Given the description of an element on the screen output the (x, y) to click on. 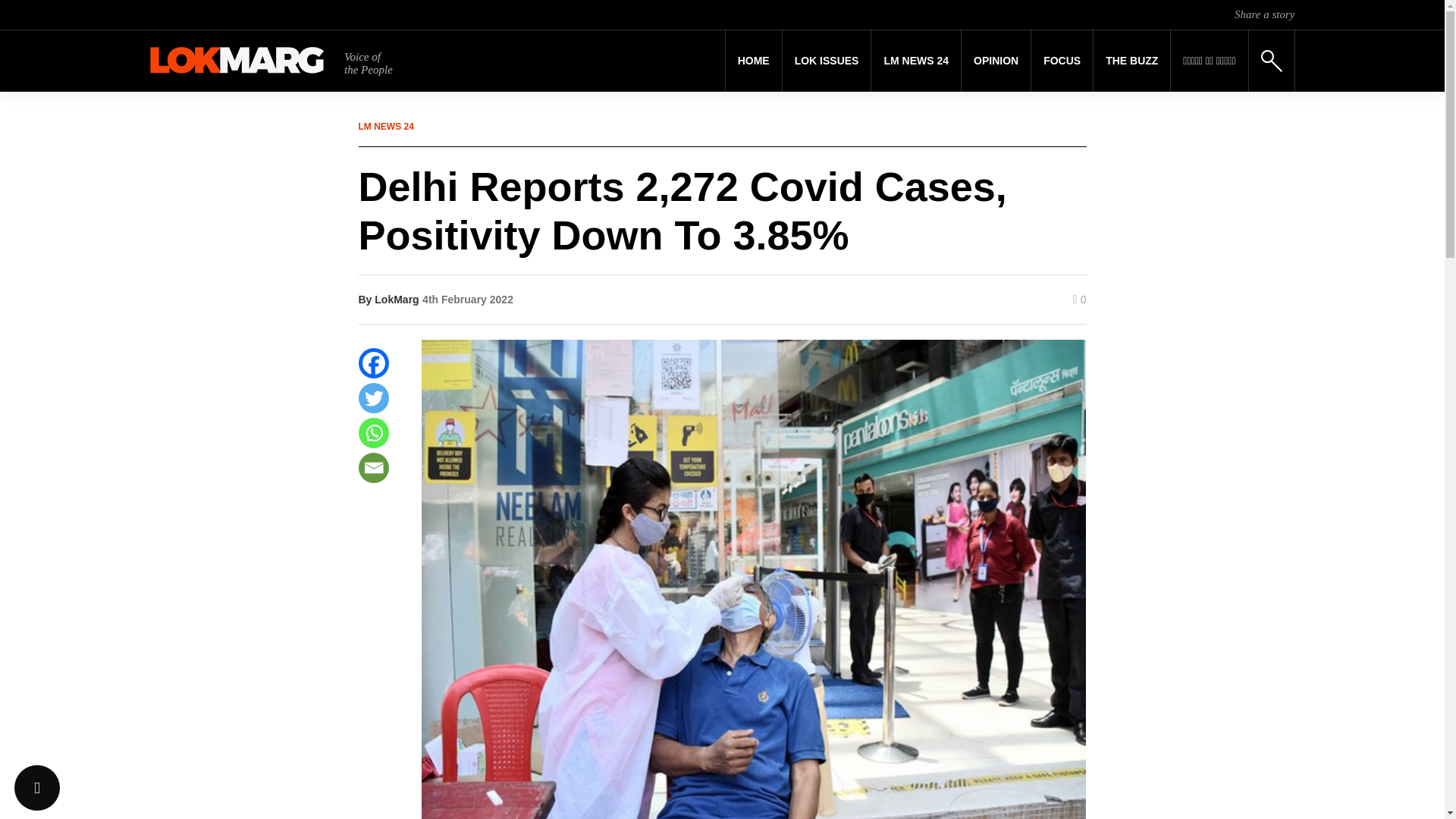
LOK ISSUES (826, 60)
FOCUS (1061, 60)
Twitter (373, 398)
THE BUZZ (1131, 60)
Whatsapp (373, 432)
THE BUZZ (1131, 60)
OPINION (995, 60)
Facebook (373, 363)
Focus (1061, 60)
Share a story (1264, 14)
Home (753, 60)
Opinion (995, 60)
LM NEWS 24 (915, 60)
HOME (753, 60)
Lok Issues (826, 60)
